Given the description of an element on the screen output the (x, y) to click on. 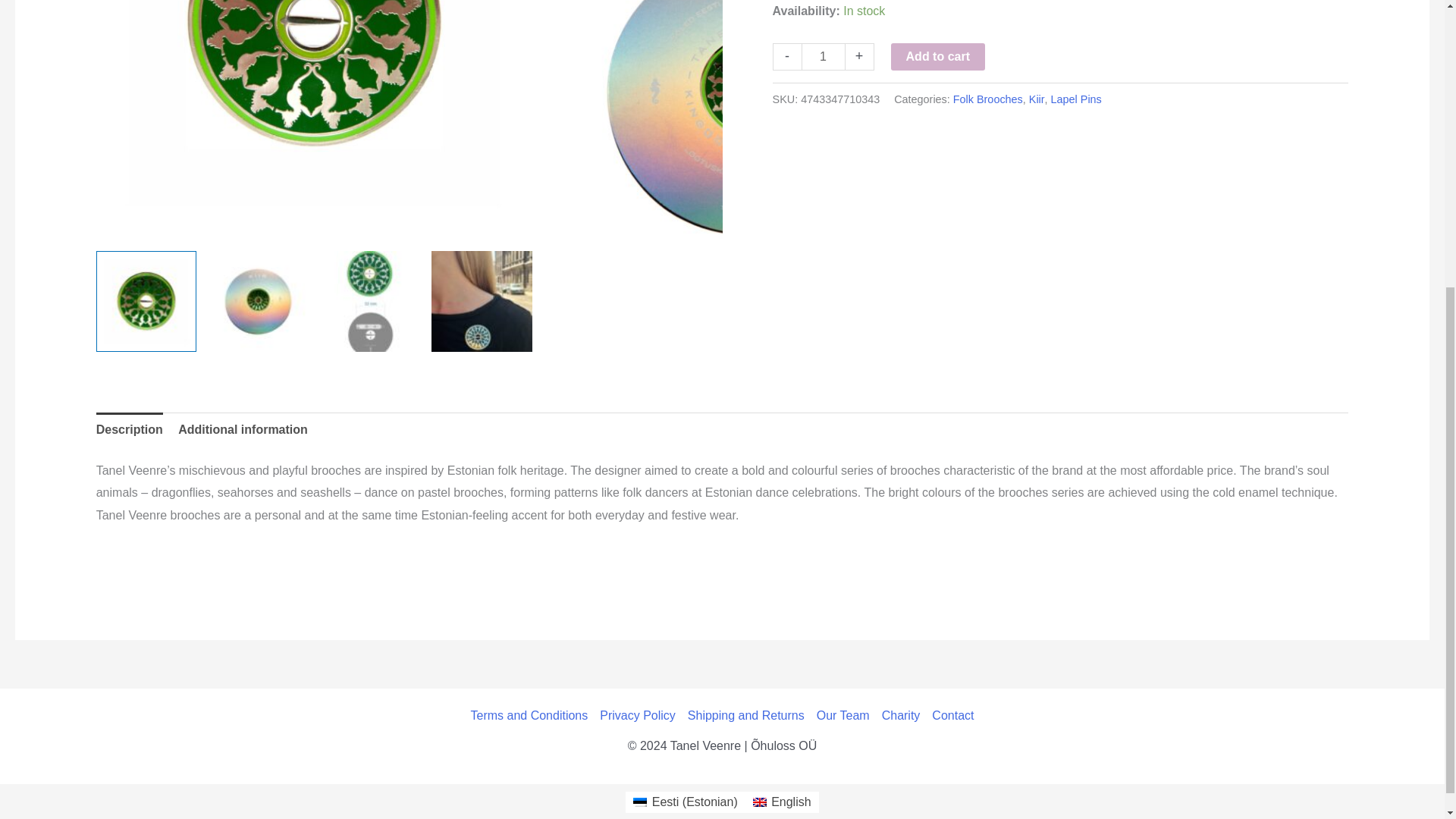
1 (823, 56)
31 (314, 119)
